Given the description of an element on the screen output the (x, y) to click on. 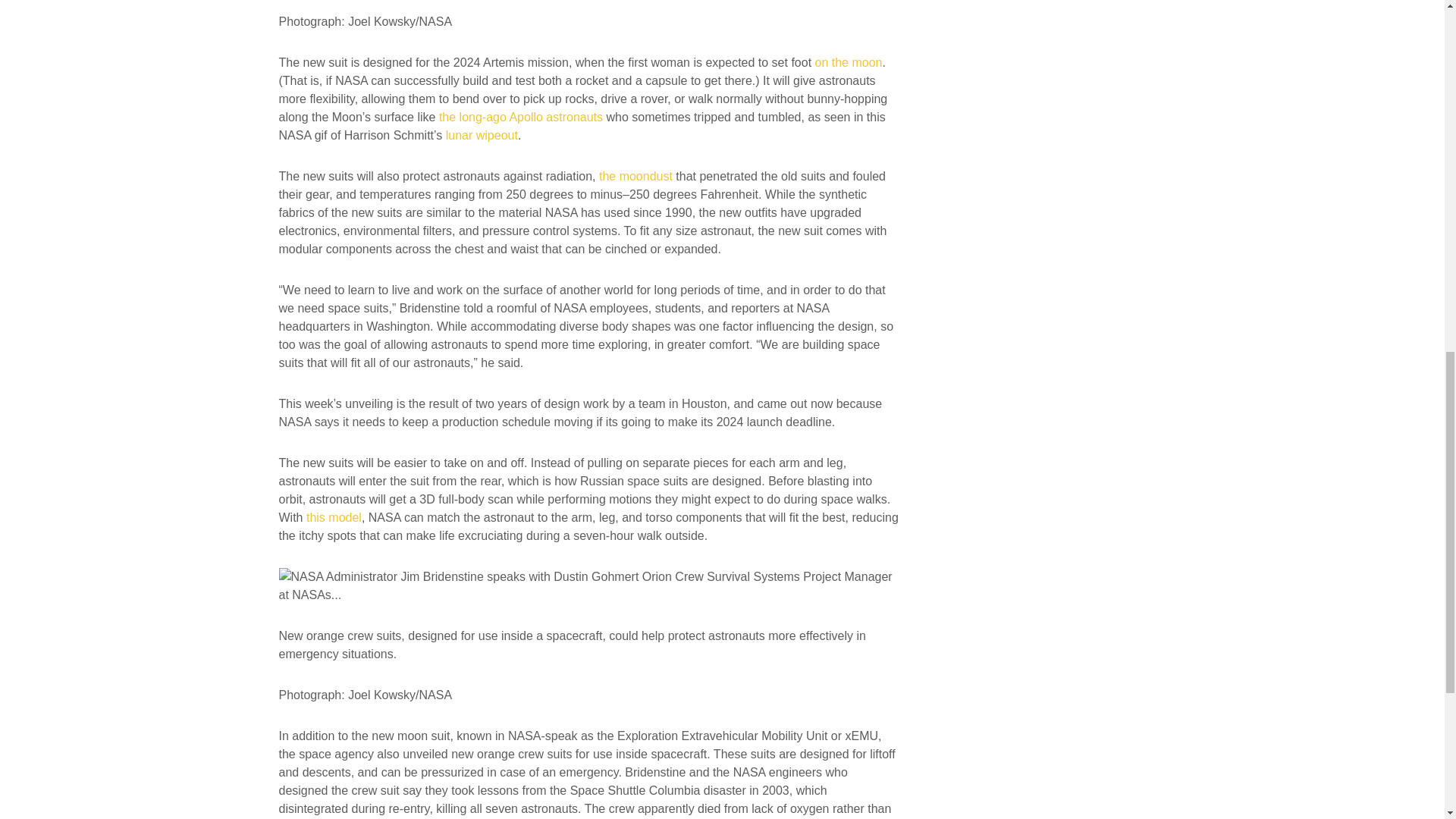
the long-ago Apollo astronauts (520, 116)
lunar wipeout (481, 134)
on the moon (848, 62)
this model (333, 517)
the moondust (635, 175)
